Given the description of an element on the screen output the (x, y) to click on. 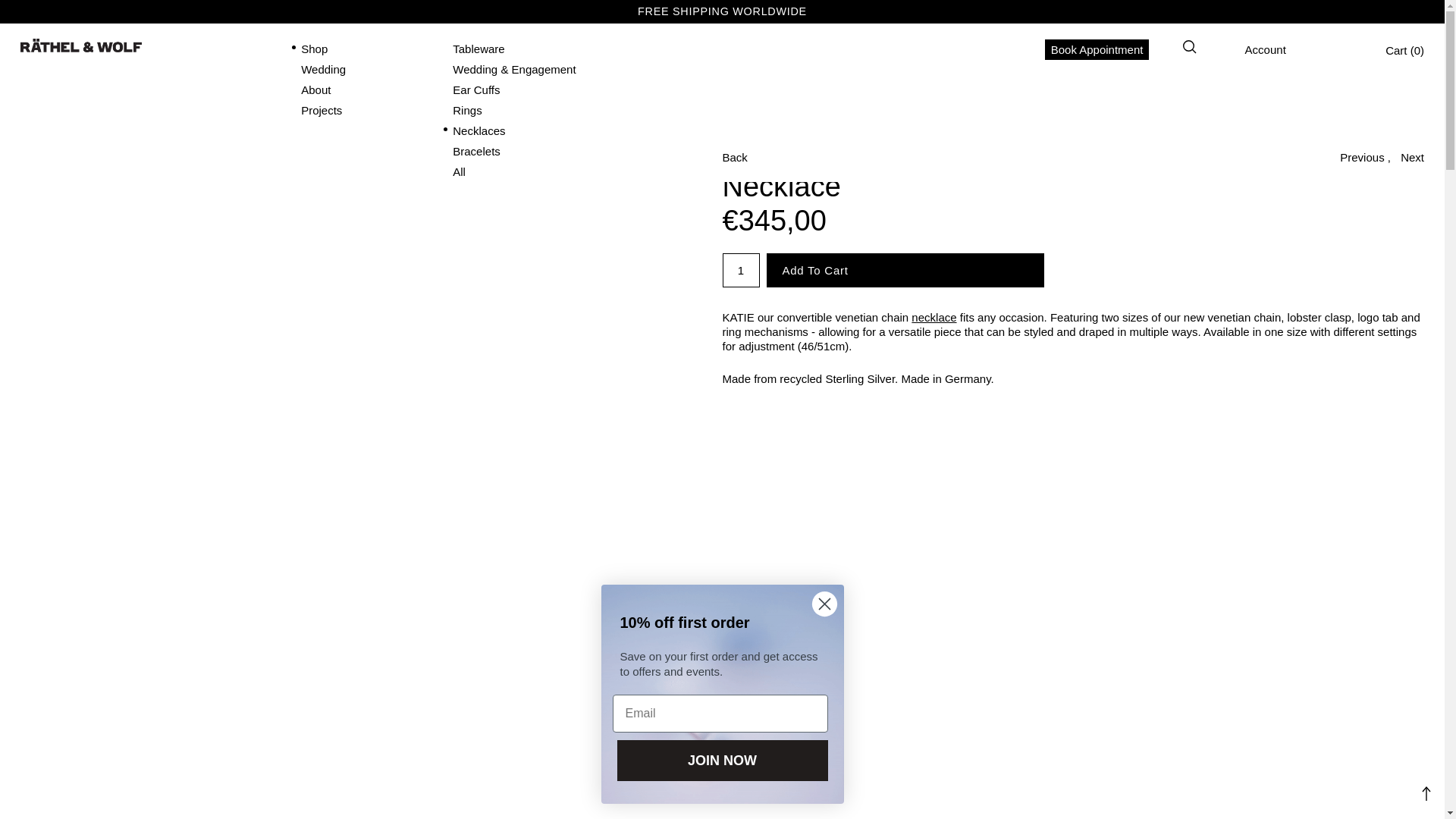
Necklaces (478, 130)
Bracelets (476, 151)
Back (734, 156)
Rings (466, 110)
Close dialog 1 (824, 603)
Previous (1361, 156)
Add to Cart (904, 270)
Shop (314, 48)
Wedding (323, 69)
About (315, 89)
All (458, 171)
Necklaces (933, 317)
Tableware (477, 48)
Projects (321, 110)
